Given the description of an element on the screen output the (x, y) to click on. 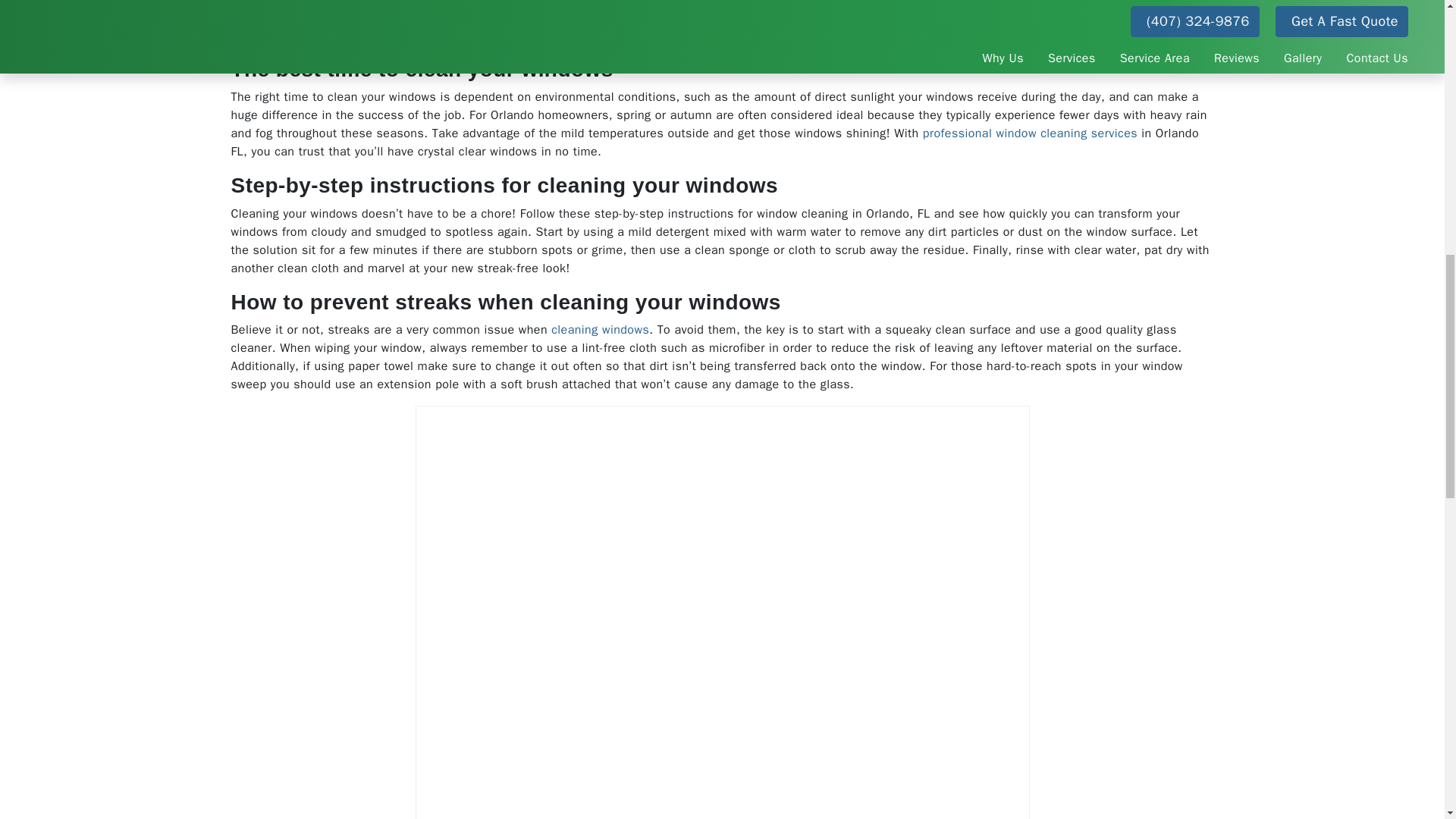
Orlando, FL (653, 3)
